Given the description of an element on the screen output the (x, y) to click on. 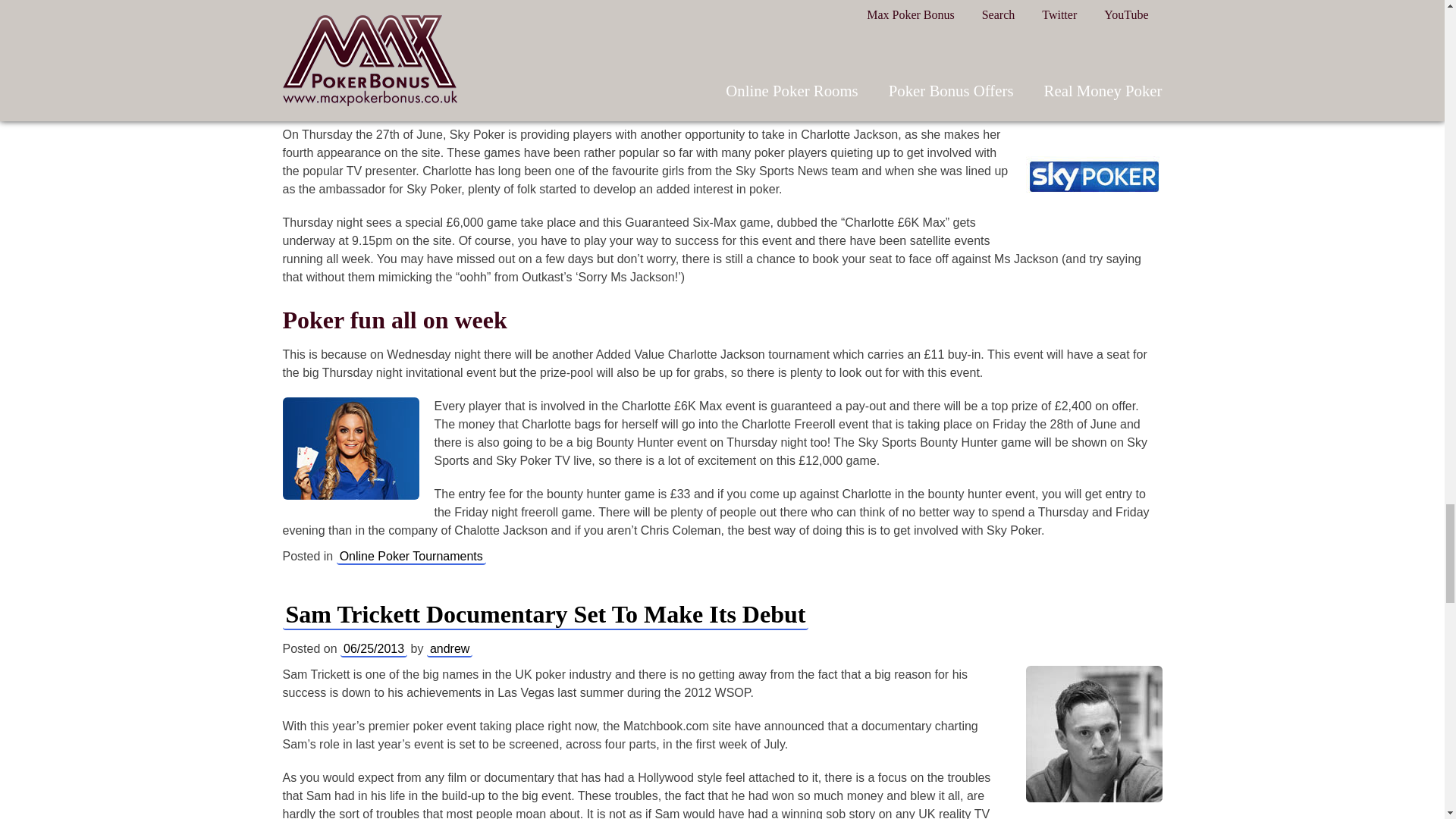
Sam Trickett (1093, 733)
Charlotte Jackson (350, 448)
